Given the description of an element on the screen output the (x, y) to click on. 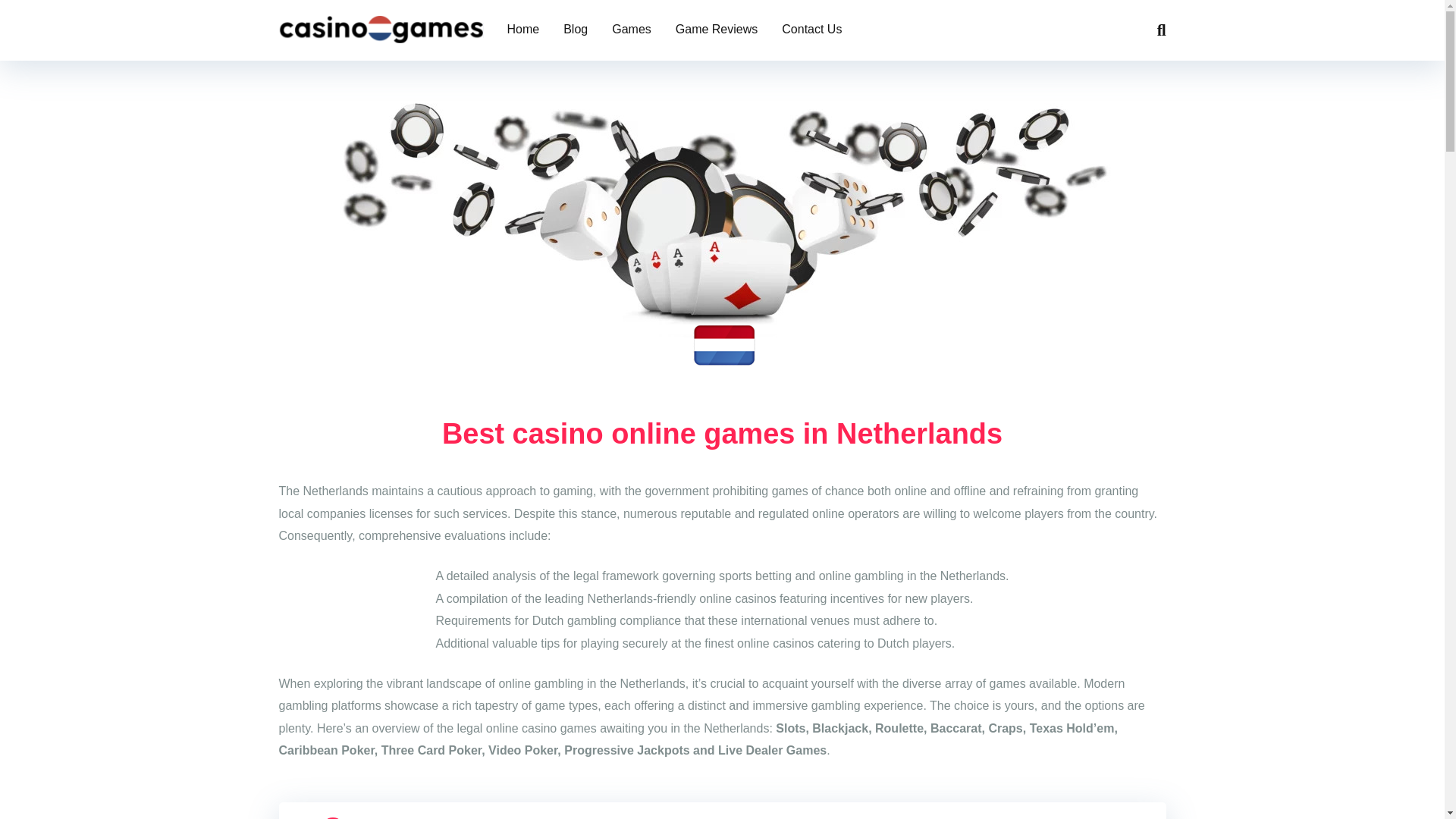
Games (631, 30)
Contact Us (811, 30)
Home (523, 30)
Casino Online Games (381, 23)
Game Reviews (716, 30)
